Given the description of an element on the screen output the (x, y) to click on. 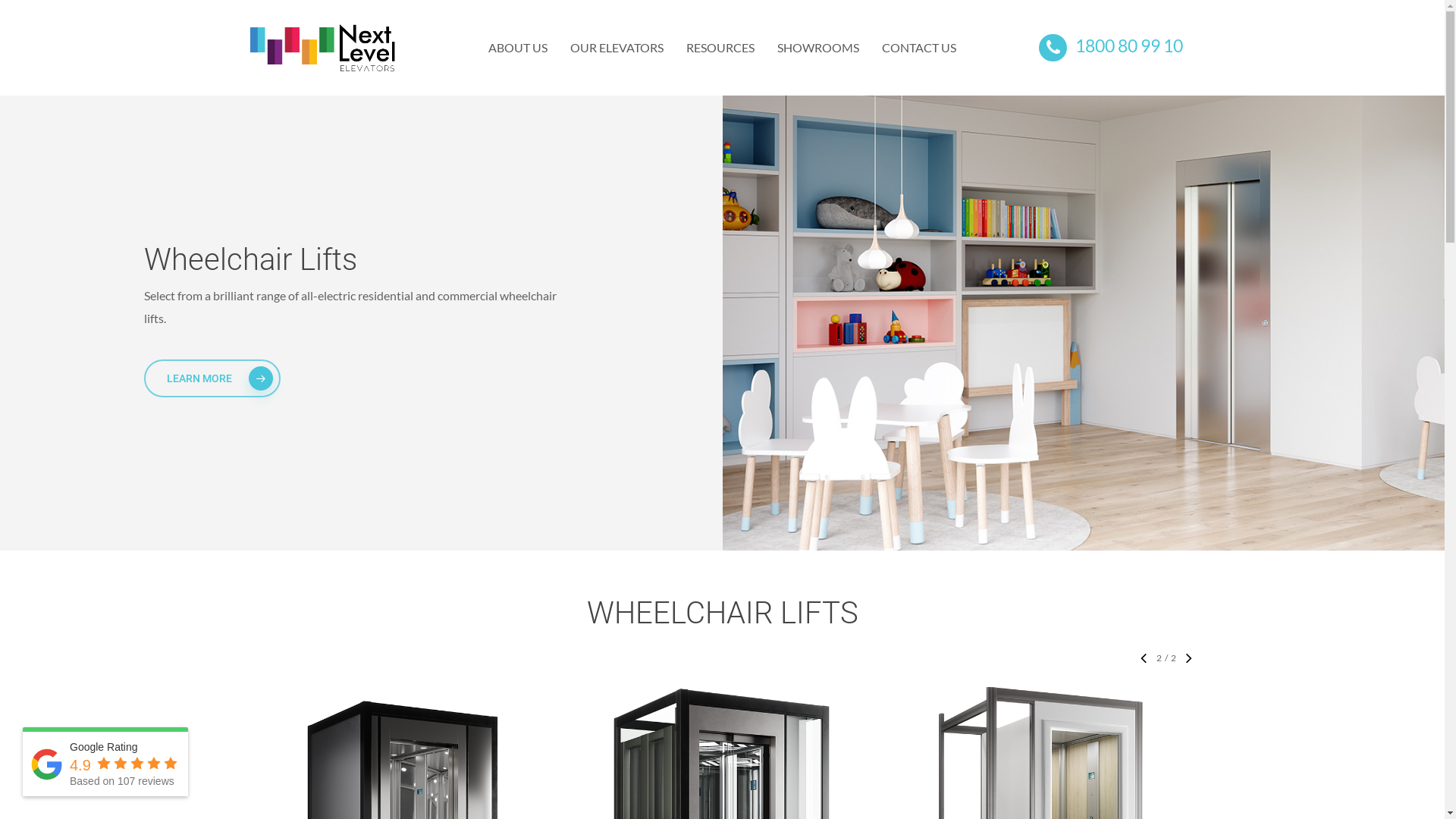
RESOURCES Element type: text (720, 47)
LEARN MORE Element type: text (212, 378)
ABOUT US Element type: text (517, 47)
SHOWROOMS Element type: text (818, 47)
OUR ELEVATORS Element type: text (616, 47)
1800 80 99 10 Element type: text (1110, 48)
CONTACT US Element type: text (918, 47)
